Given the description of an element on the screen output the (x, y) to click on. 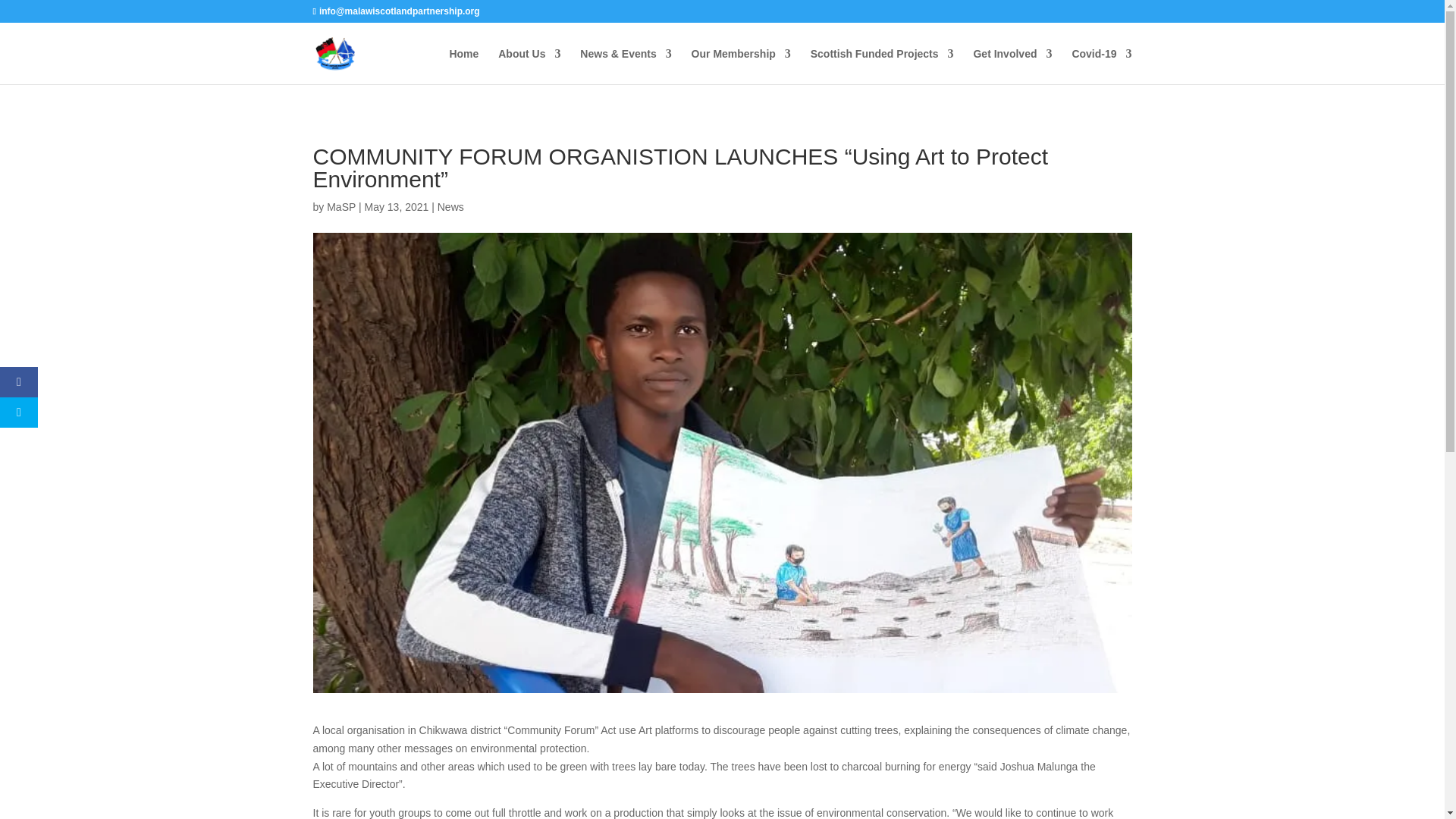
Our Membership (740, 66)
Get Involved (1011, 66)
Covid-19 (1101, 66)
About Us (528, 66)
Posts by MaSP (340, 206)
Scottish Funded Projects (881, 66)
